Given the description of an element on the screen output the (x, y) to click on. 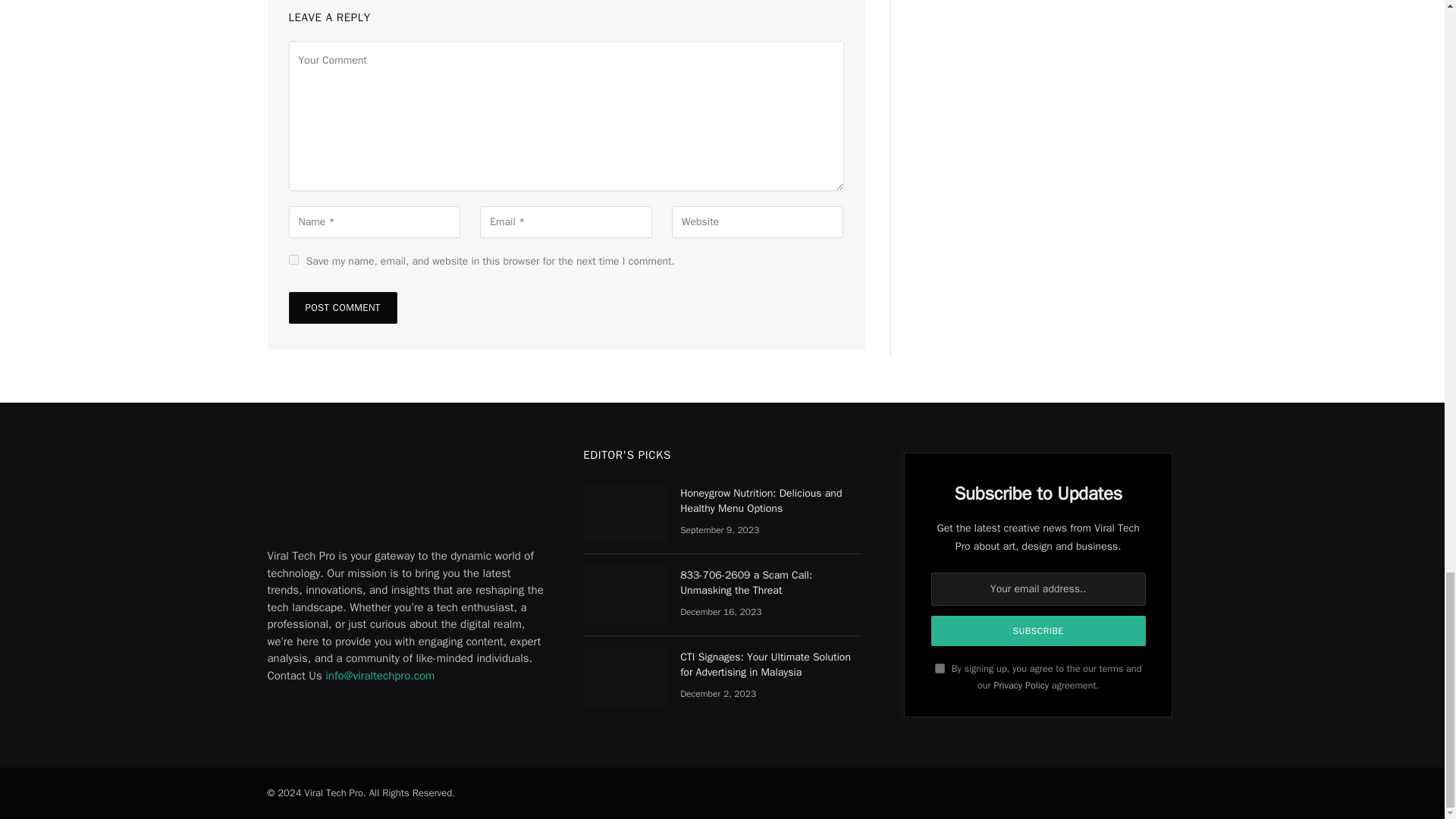
Post Comment (342, 307)
Post Comment (342, 307)
Subscribe (1038, 630)
yes (293, 259)
on (939, 668)
